Given the description of an element on the screen output the (x, y) to click on. 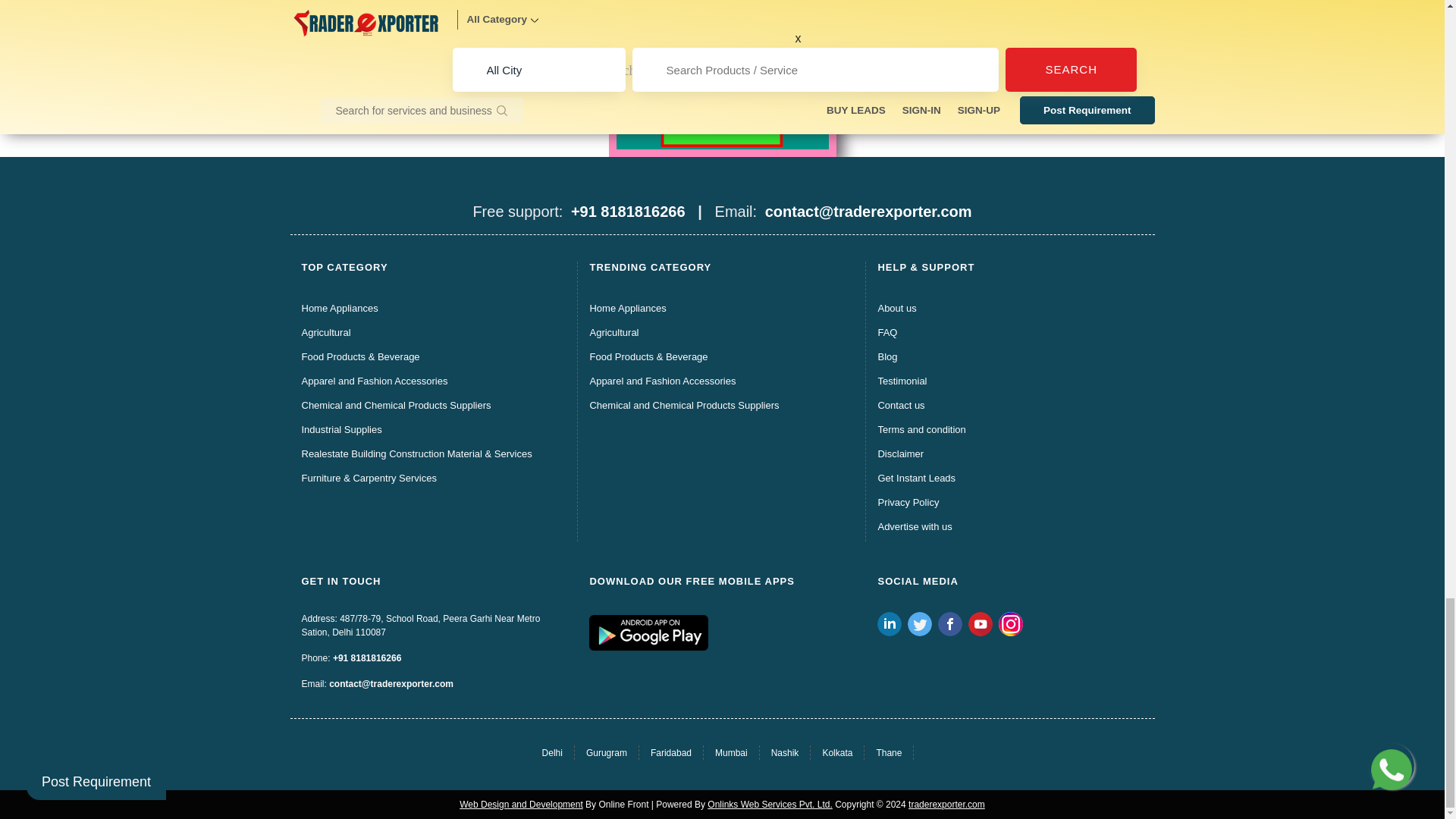
WhatsApp Now (699, 117)
